Given the description of an element on the screen output the (x, y) to click on. 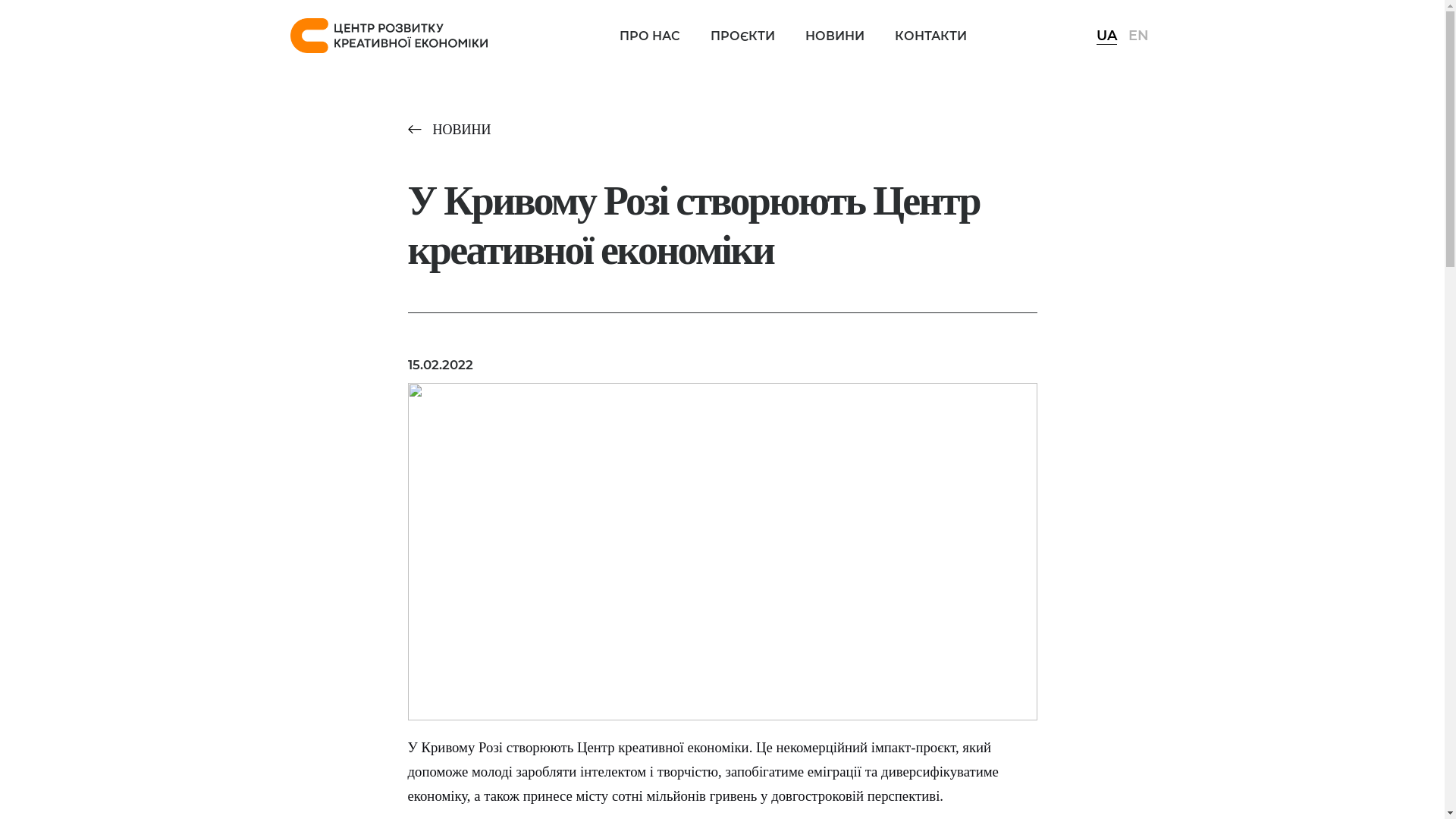
EN Element type: text (1138, 35)
UA Element type: text (1106, 35)
